Given the description of an element on the screen output the (x, y) to click on. 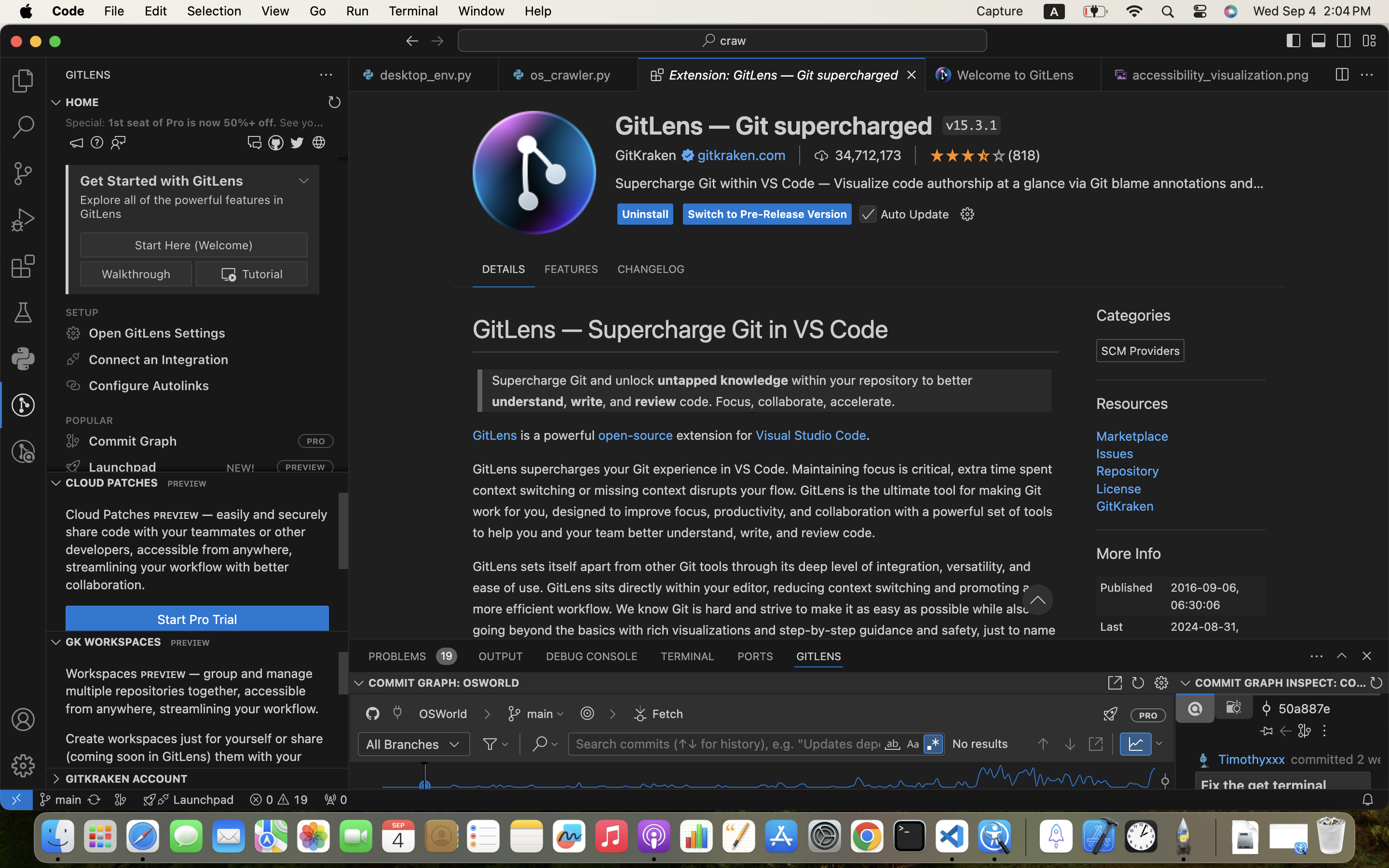
0 os_crawler.py   Element type: AXRadioButton (568, 74)
untapped knowledge Element type: AXStaticText (614, 180)
features, which require a Element type: AXStaticText (791, 281)
Launchpad   Element type: AXButton (188, 799)
0 PROBLEMS 19 Element type: AXRadioButton (411, 655)
